Given the description of an element on the screen output the (x, y) to click on. 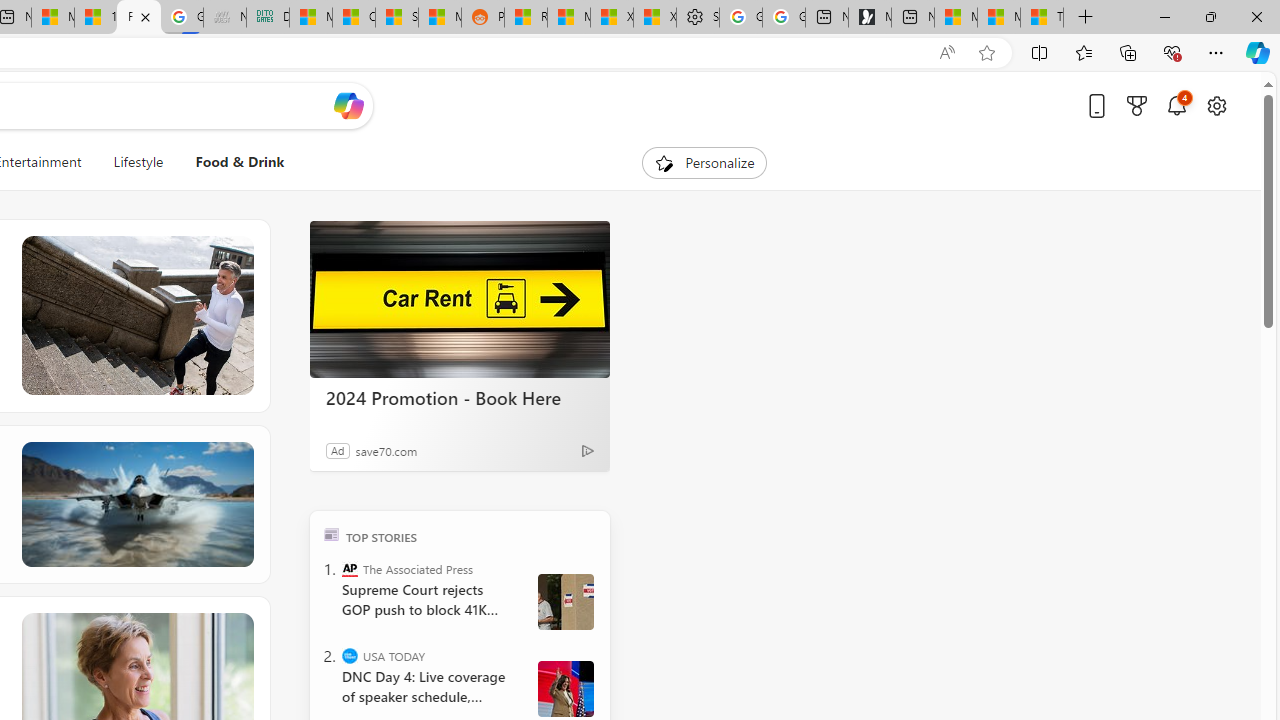
R******* | Trusted Community Engagement and Contributions (525, 17)
save70.com (386, 450)
Personalize (703, 162)
14 Common Myths Debunked By Scientific Facts (95, 17)
The Associated Press (349, 568)
